Given the description of an element on the screen output the (x, y) to click on. 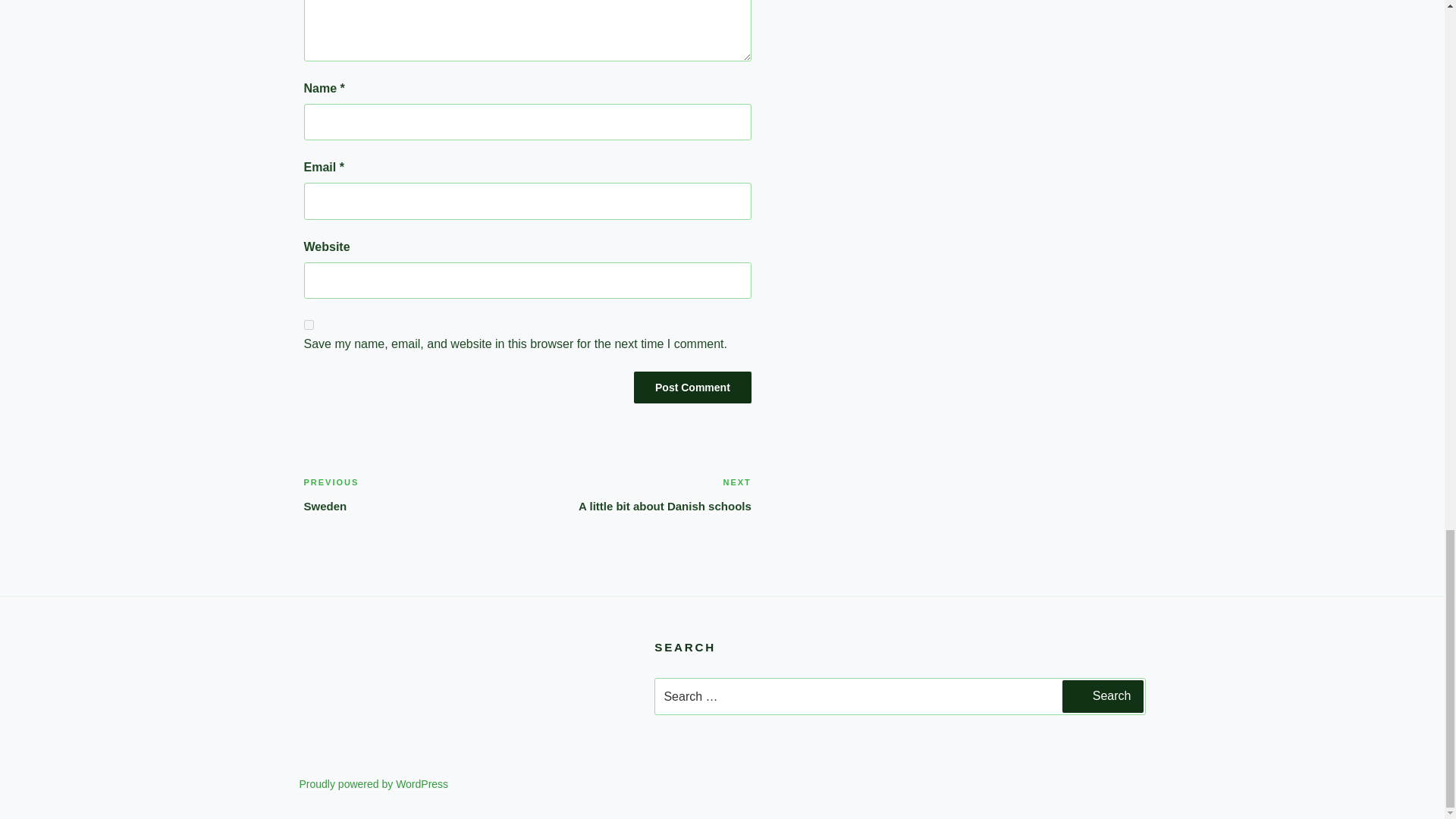
Post Comment (692, 387)
yes (639, 493)
Post Comment (307, 325)
